Given the description of an element on the screen output the (x, y) to click on. 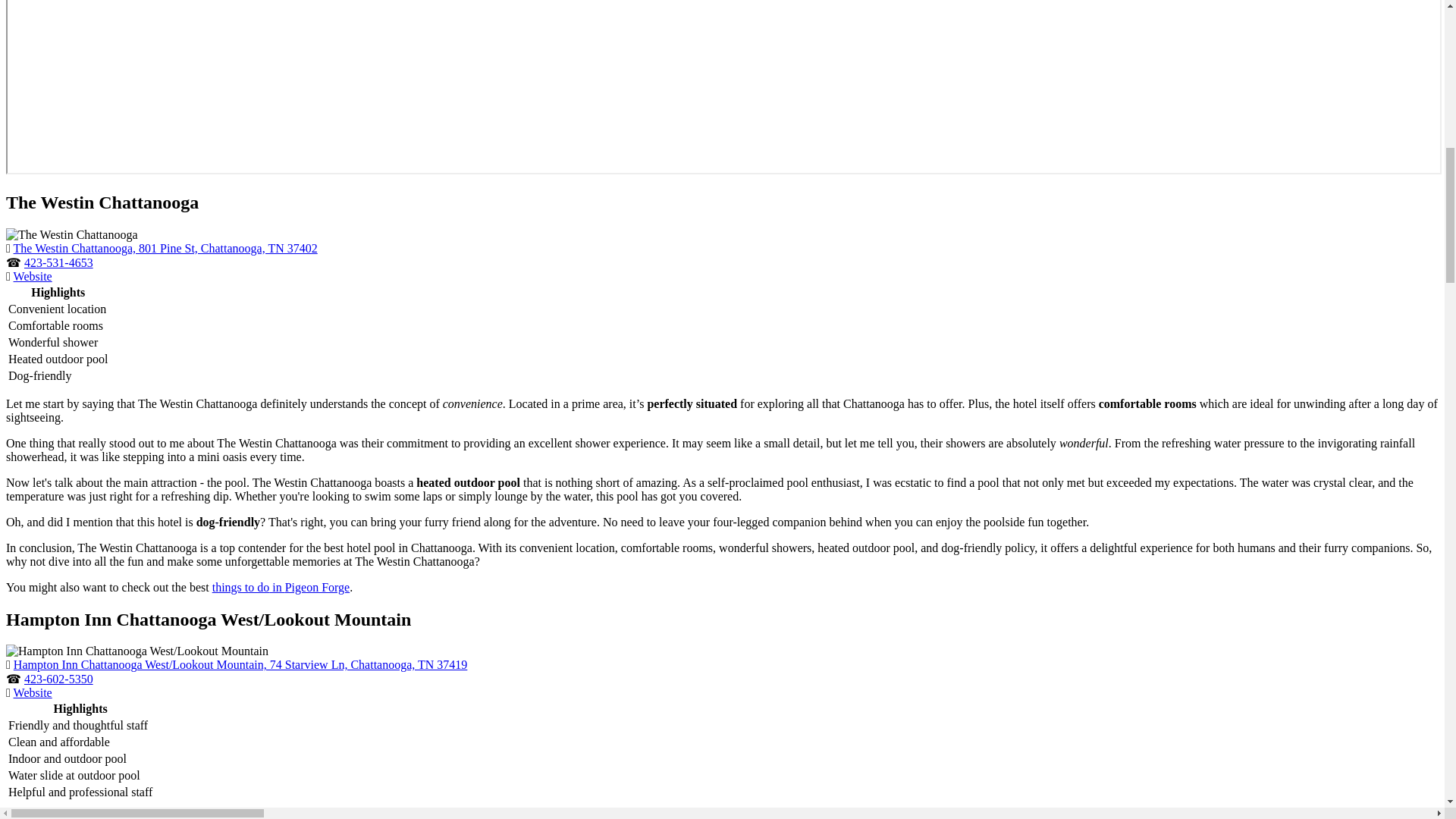
Website (32, 276)
Website (32, 692)
423-531-4653 (58, 262)
423-602-5350 (58, 678)
The Westin Chattanooga, 801 Pine St, Chattanooga, TN 37402 (165, 247)
things to do in Pigeon Forge (281, 586)
